Given the description of an element on the screen output the (x, y) to click on. 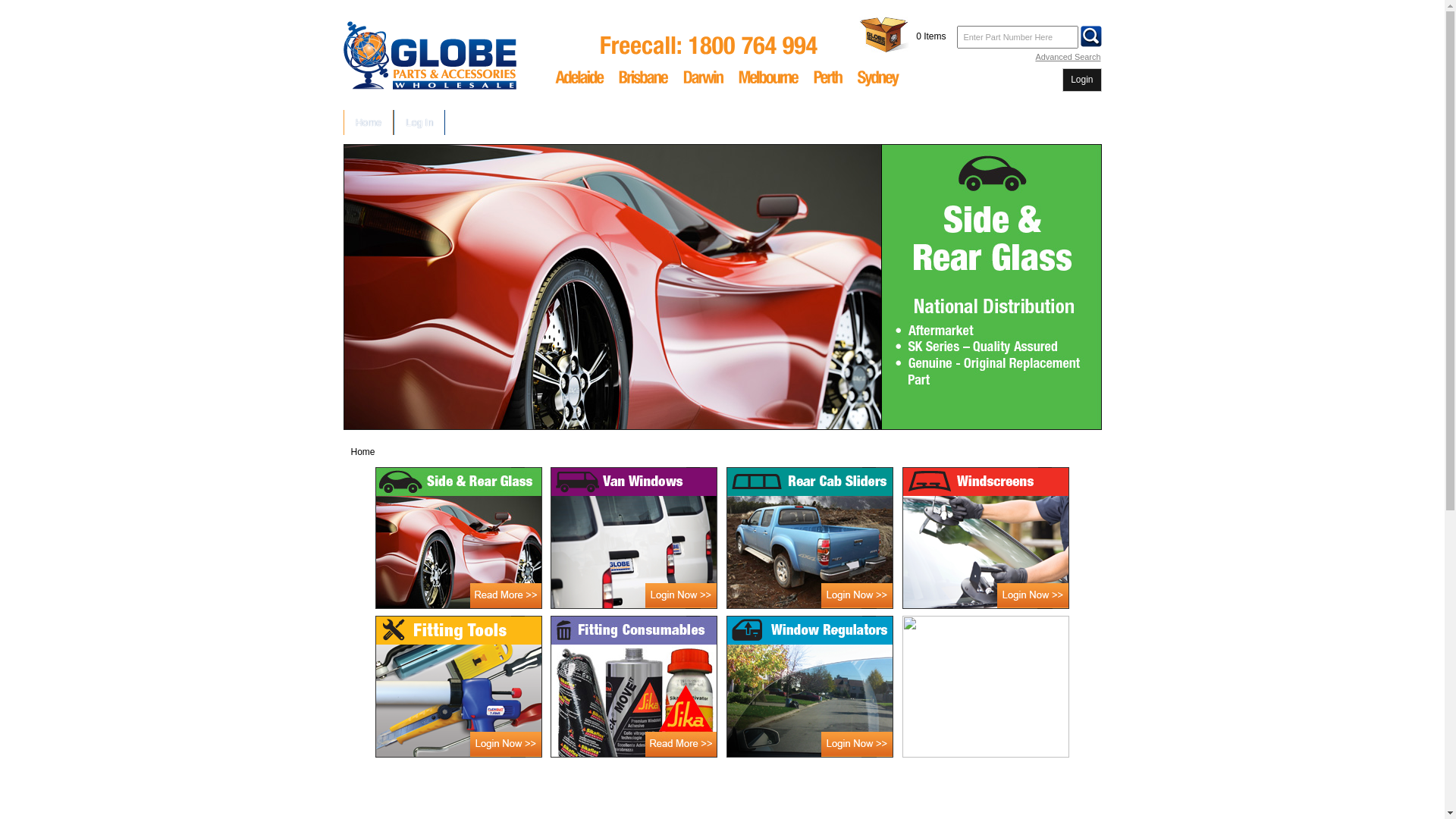
Login Element type: text (1081, 79)
Search Element type: hover (1090, 36)
0 Items Element type: text (930, 36)
Home Element type: text (368, 121)
Home Element type: text (362, 451)
Log In Element type: text (419, 121)
 2014 - RED CAR SIDE AND REAR  Element type: hover (721, 286)
 View your Cart  Element type: hover (886, 34)
Advanced Search Element type: text (1067, 56)
